Given the description of an element on the screen output the (x, y) to click on. 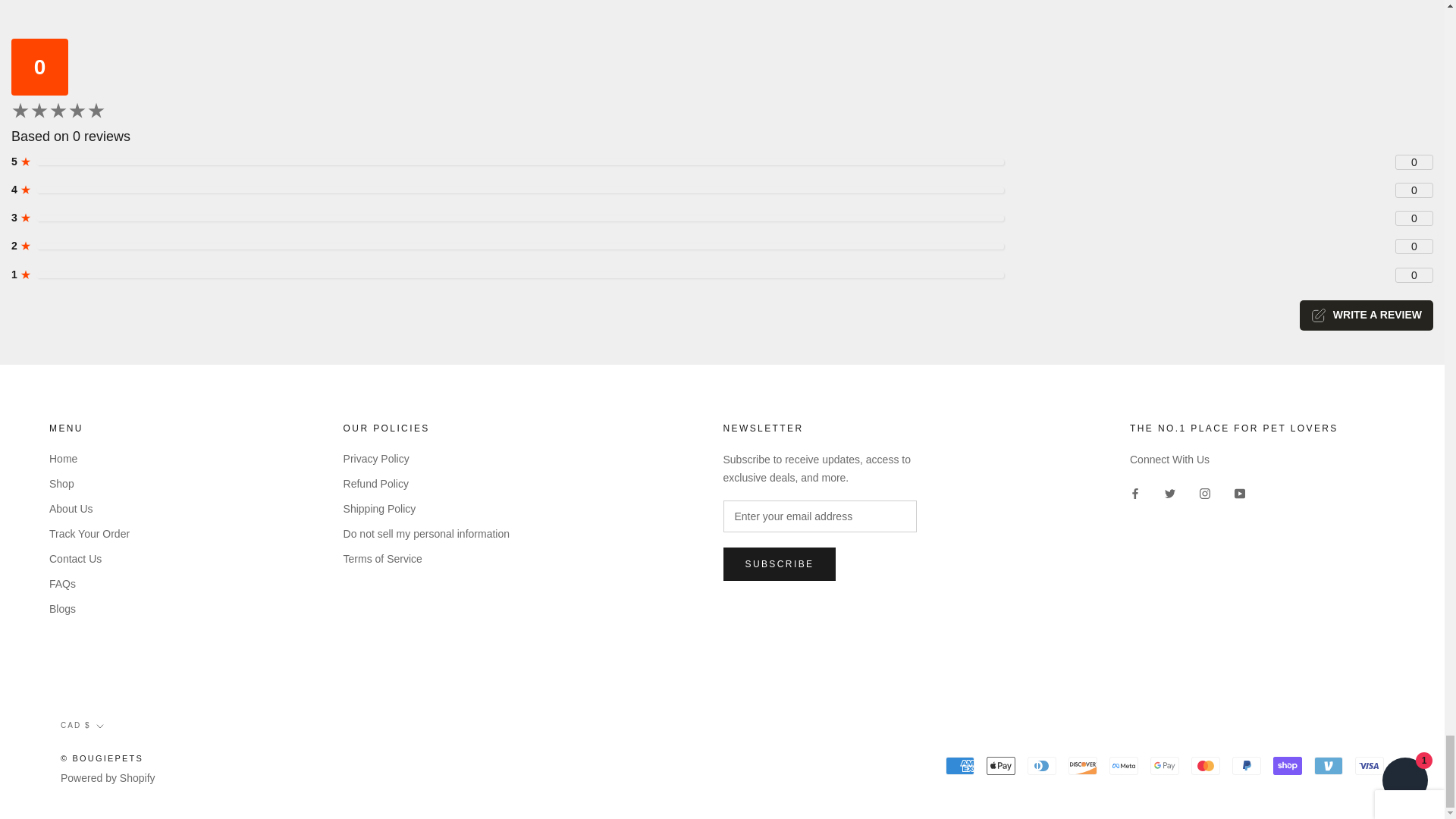
American Express (959, 765)
Apple Pay (1000, 765)
Diners Club (1042, 765)
